Given the description of an element on the screen output the (x, y) to click on. 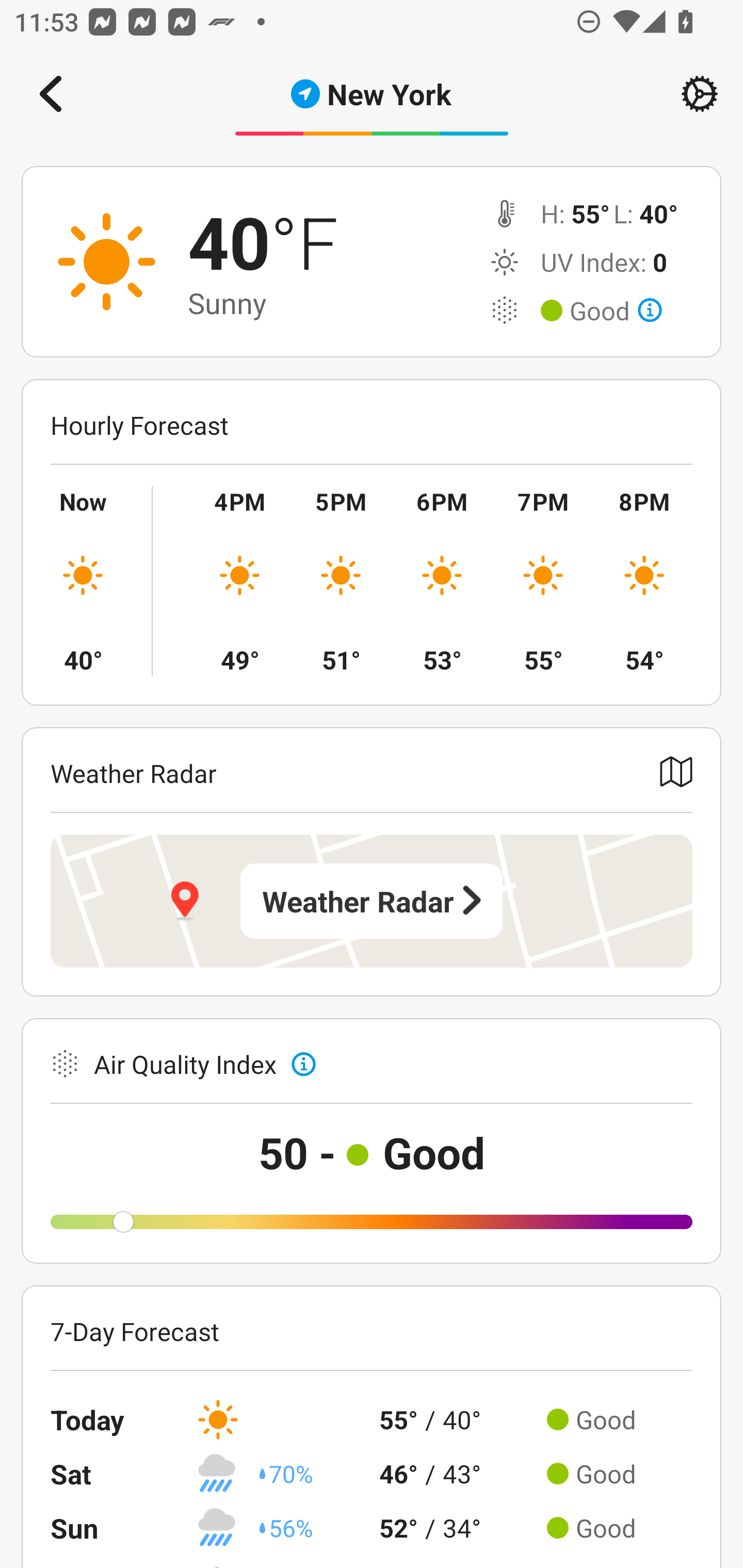
Navigate up (50, 93)
Setting (699, 93)
Good (615, 310)
Weather Radar (371, 900)
